Given the description of an element on the screen output the (x, y) to click on. 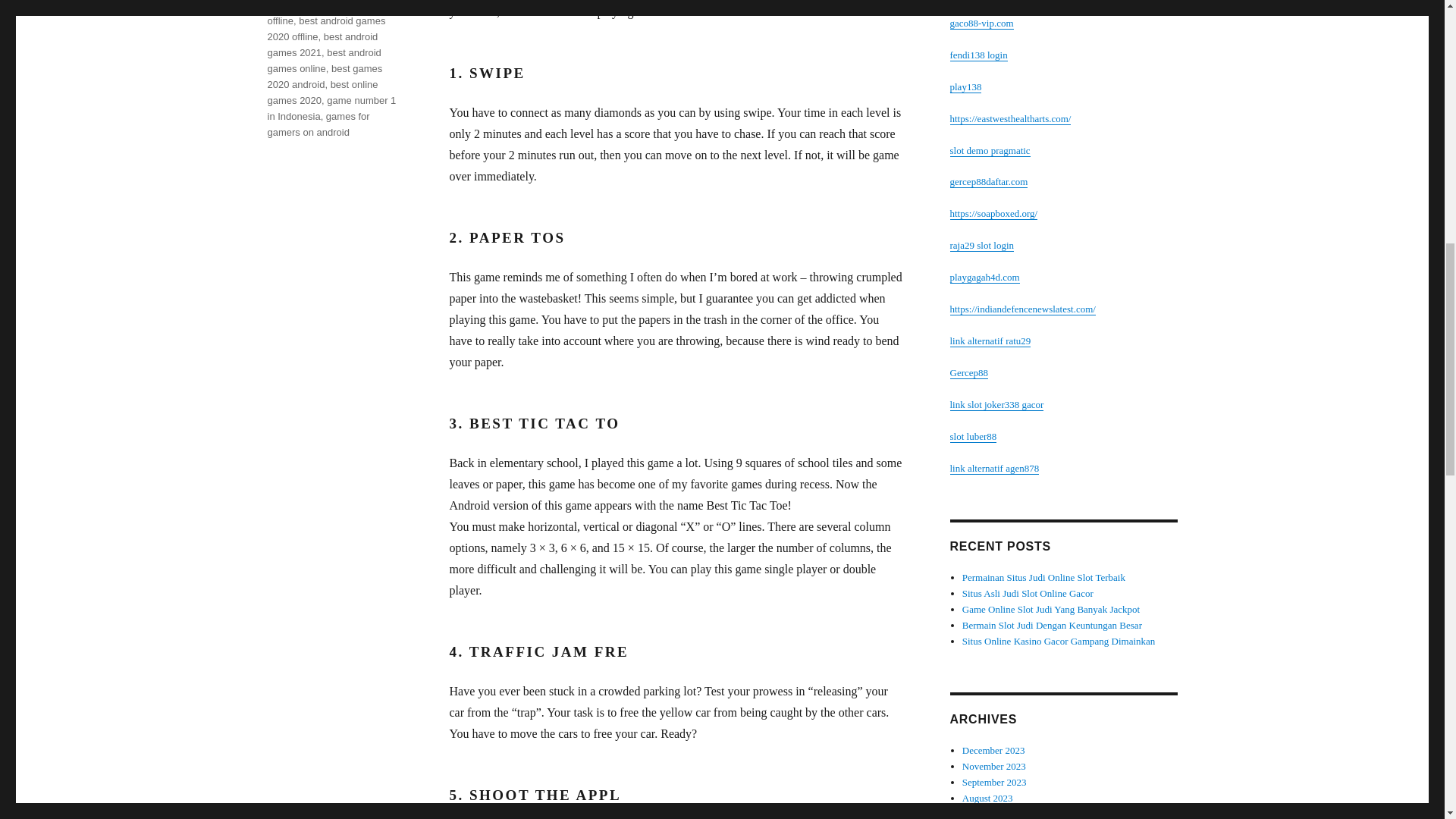
games for gamers on android (317, 124)
best android games online (323, 60)
best android games 2021 (321, 44)
game number 1 in Indonesia (331, 108)
play138 (965, 86)
fendi138 login (978, 54)
gaco88-vip.com (981, 22)
5 of the Best and free Games on Android (331, 5)
best android games 2020 offline (325, 28)
best online games 2020 (321, 92)
best games 2020 android (323, 76)
Gercep88 (968, 372)
android fun game offline (331, 13)
